Given the description of an element on the screen output the (x, y) to click on. 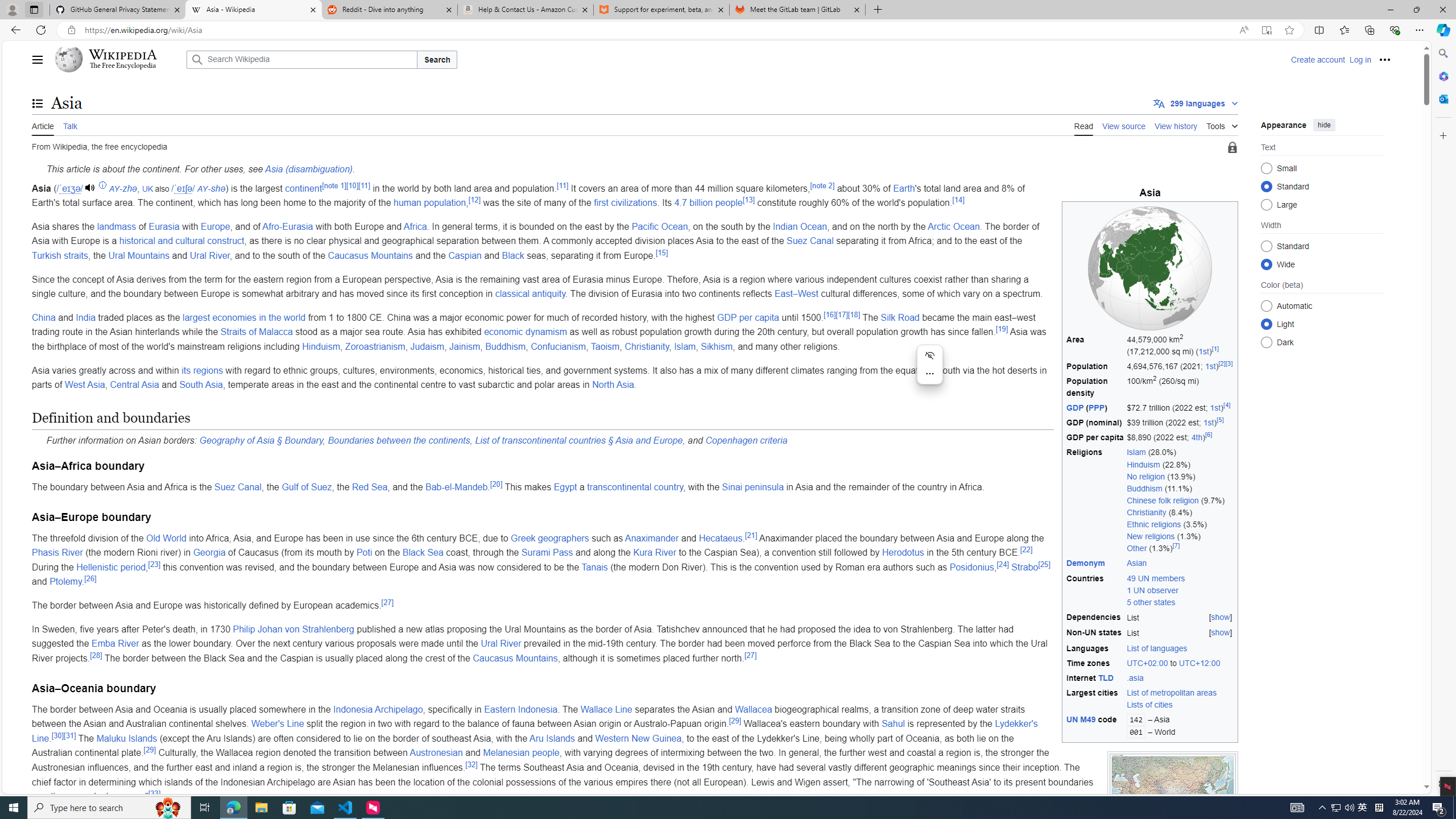
Religions (1095, 500)
Caspian (464, 255)
Ptolemy (65, 581)
[1] (1215, 348)
Area (1095, 345)
[note 2] (821, 185)
[18] (853, 314)
Indonesia Archipelago (378, 709)
[21] (750, 534)
$8,890 (2022 est; 4th)[6] (1179, 437)
1st (1208, 422)
Aru Islands (551, 738)
[22] (1025, 548)
Class: infobox-image (1149, 267)
